Given the description of an element on the screen output the (x, y) to click on. 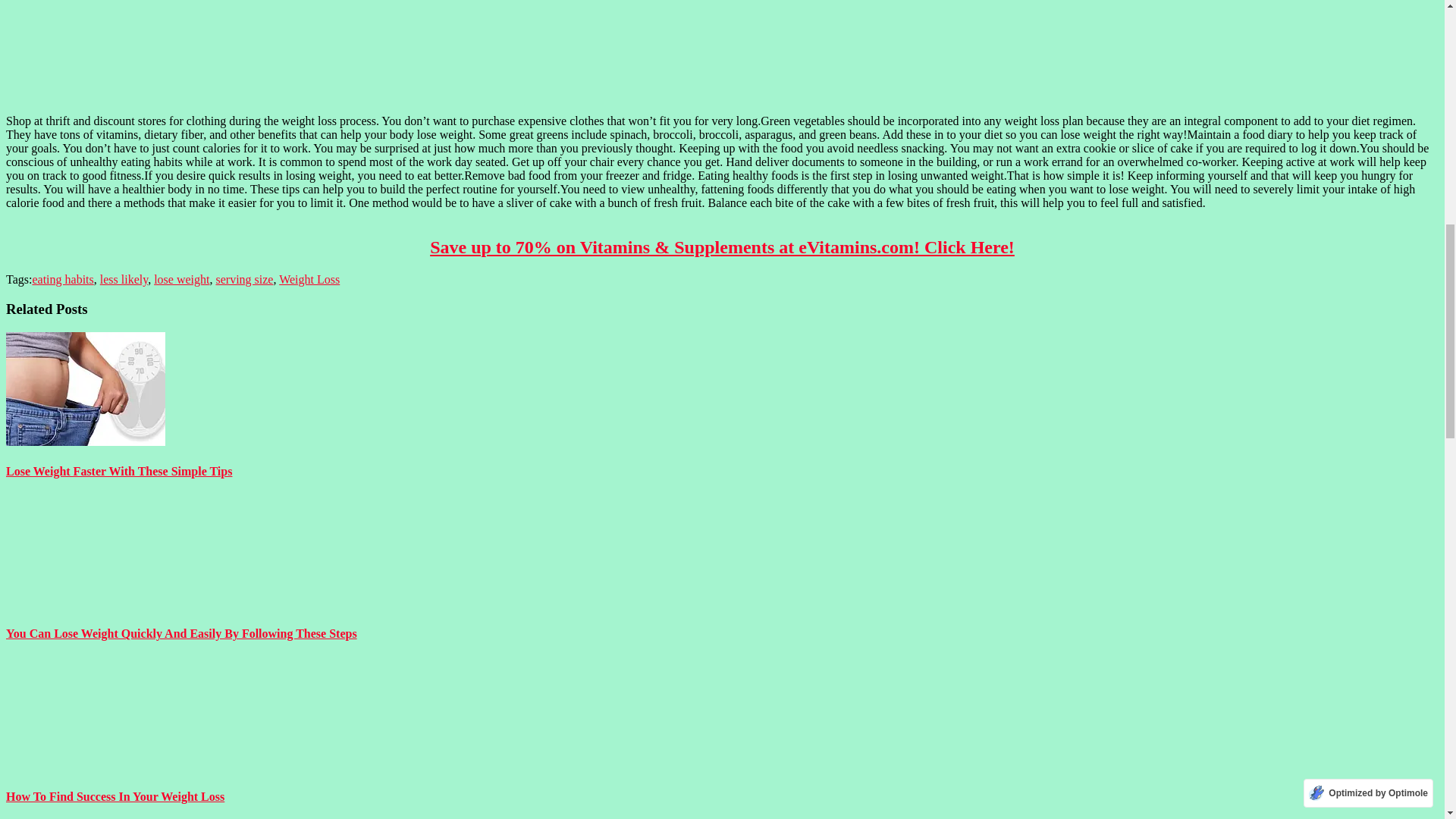
serving size (244, 278)
less likely (124, 278)
Lose Weight Faster With These Simple Tips (85, 388)
eating habits (62, 278)
Advertisement (721, 51)
Weight Loss (309, 278)
How To Find Success In Your Weight Loss (85, 714)
lose weight (181, 278)
